Given the description of an element on the screen output the (x, y) to click on. 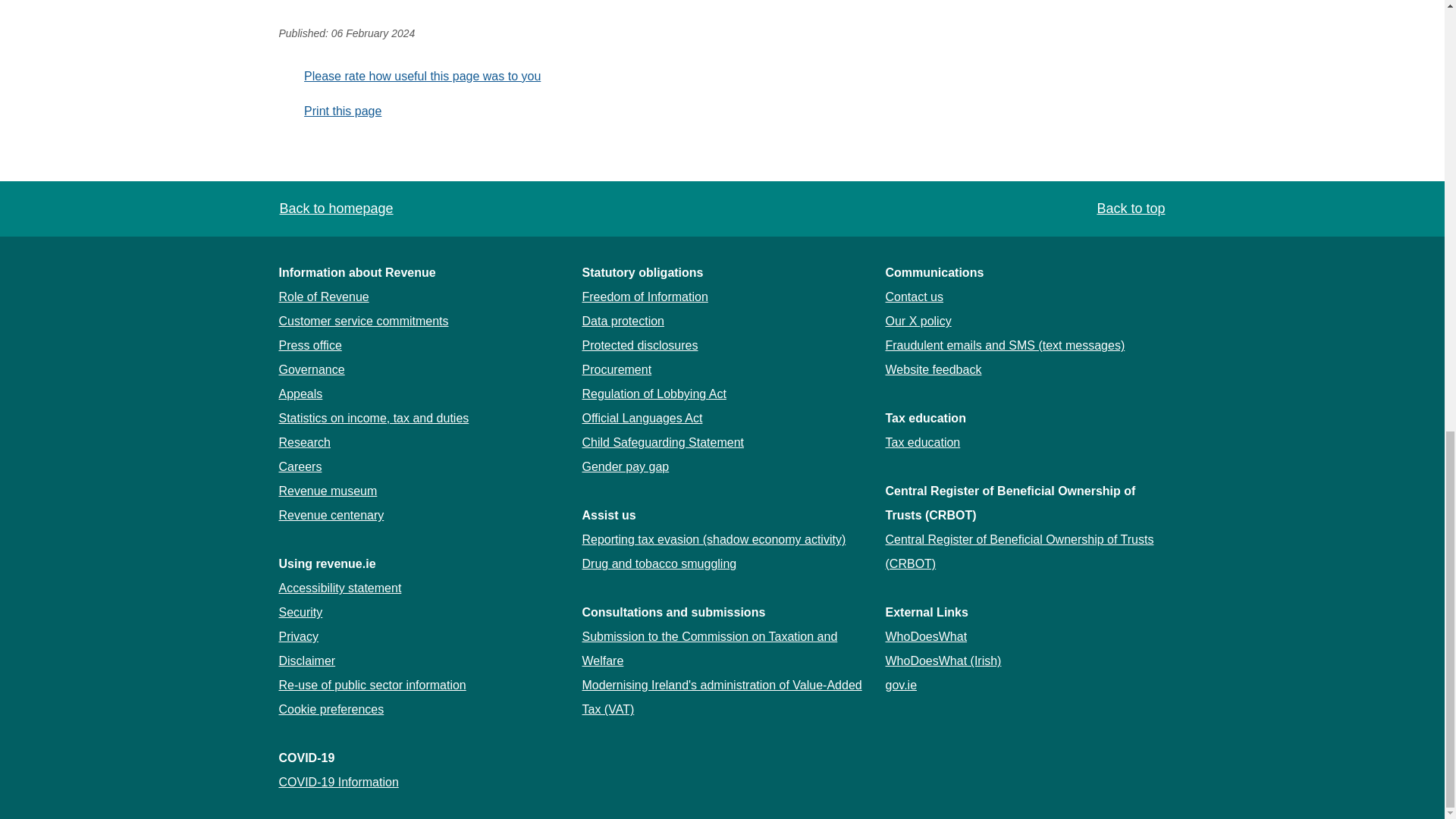
Role of Revenue (324, 296)
Back to top (1129, 209)
Role of Revenue (324, 296)
Customer service commitments (363, 320)
Statistics on income, tax and duties (373, 418)
Revenue museum (328, 490)
Research (304, 441)
Governance (312, 369)
Research (304, 441)
Press office (310, 345)
Careers (300, 466)
Revenue museum (328, 490)
Print this page (330, 111)
Accessibility statement (340, 587)
Careers (300, 466)
